Given the description of an element on the screen output the (x, y) to click on. 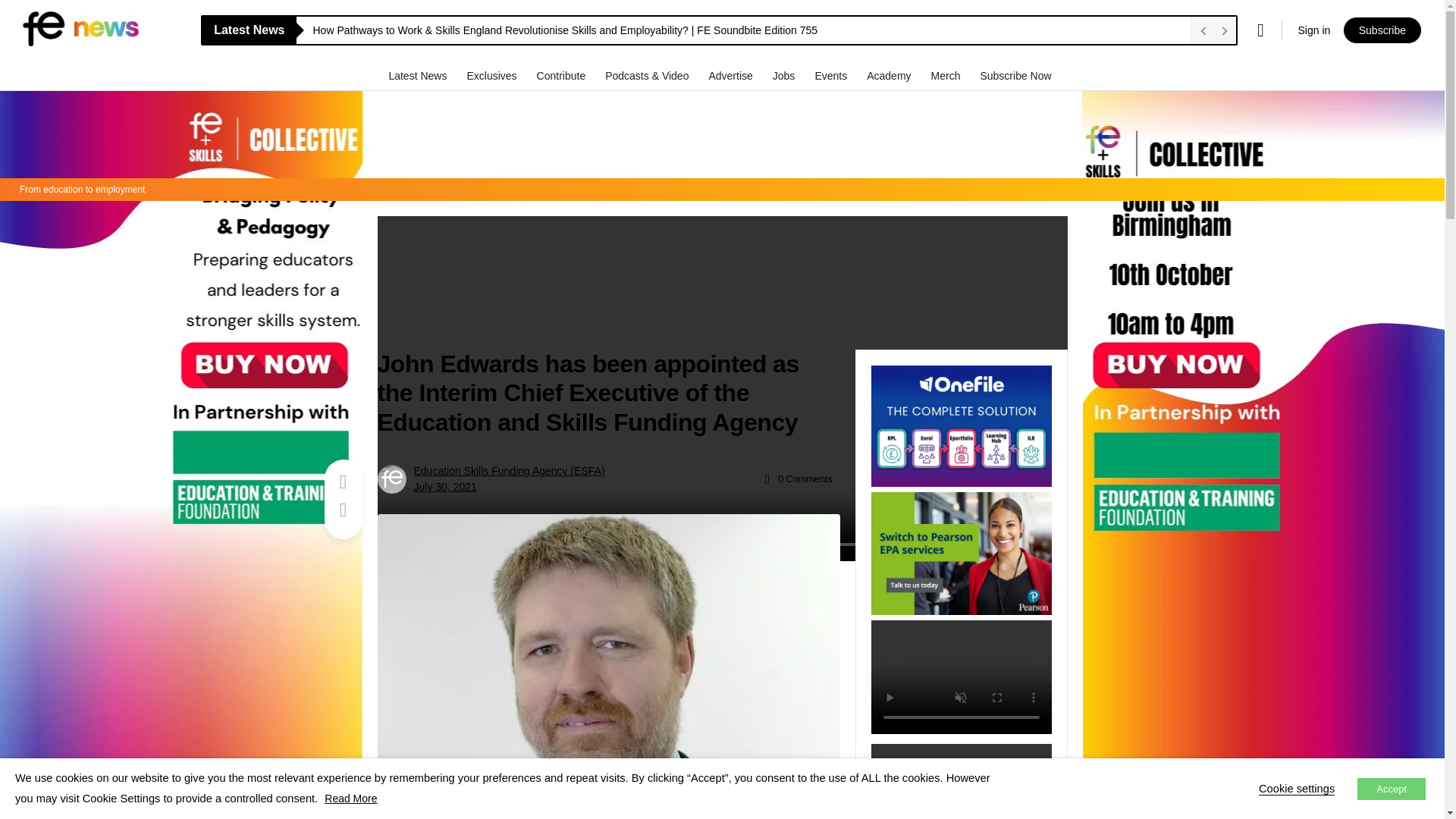
Latest News (419, 75)
Exclusives (493, 75)
Subscribe (1382, 30)
Sign in (1313, 30)
